Given the description of an element on the screen output the (x, y) to click on. 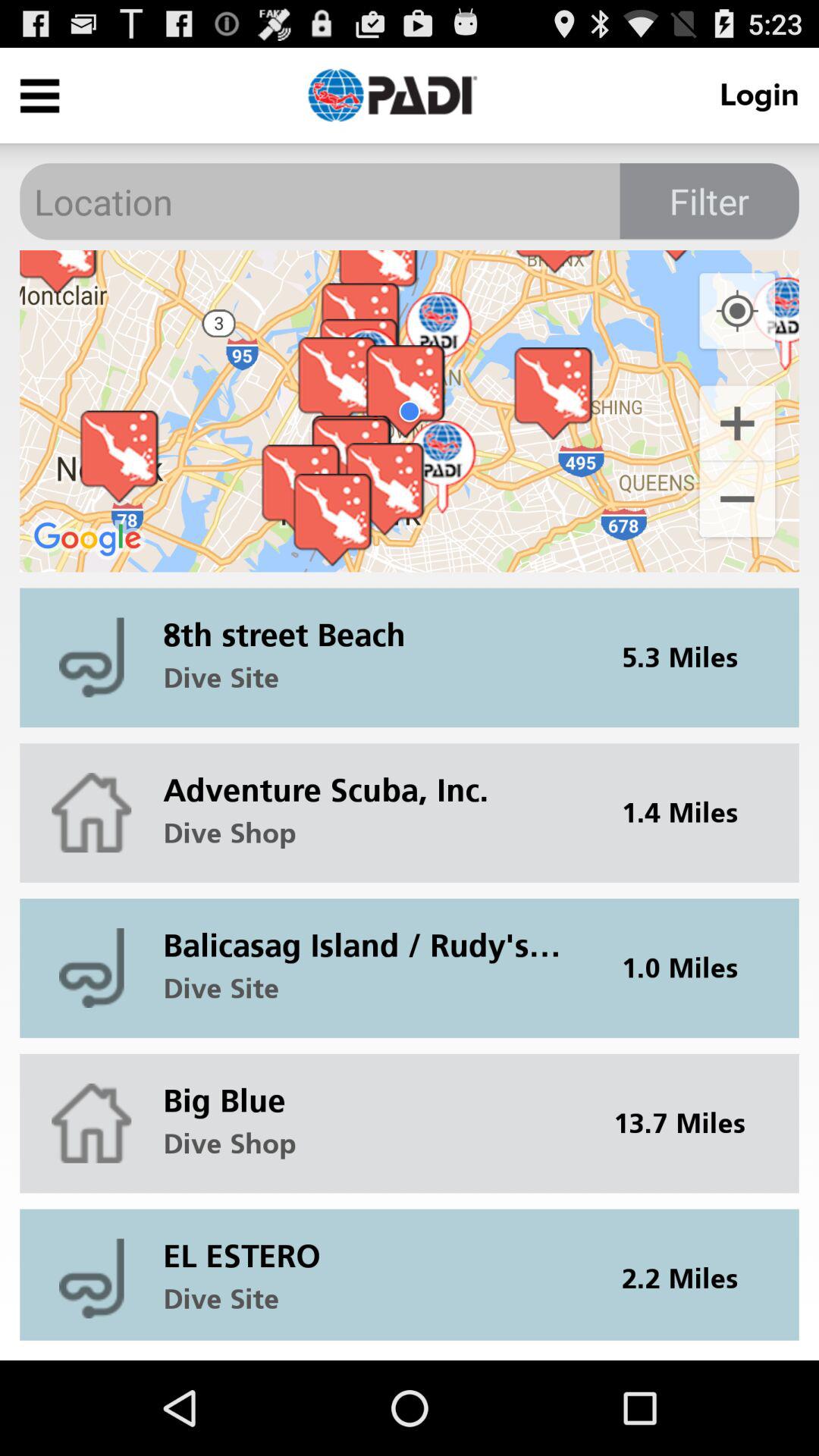
tap item to the left of 5.3 miles (371, 623)
